Given the description of an element on the screen output the (x, y) to click on. 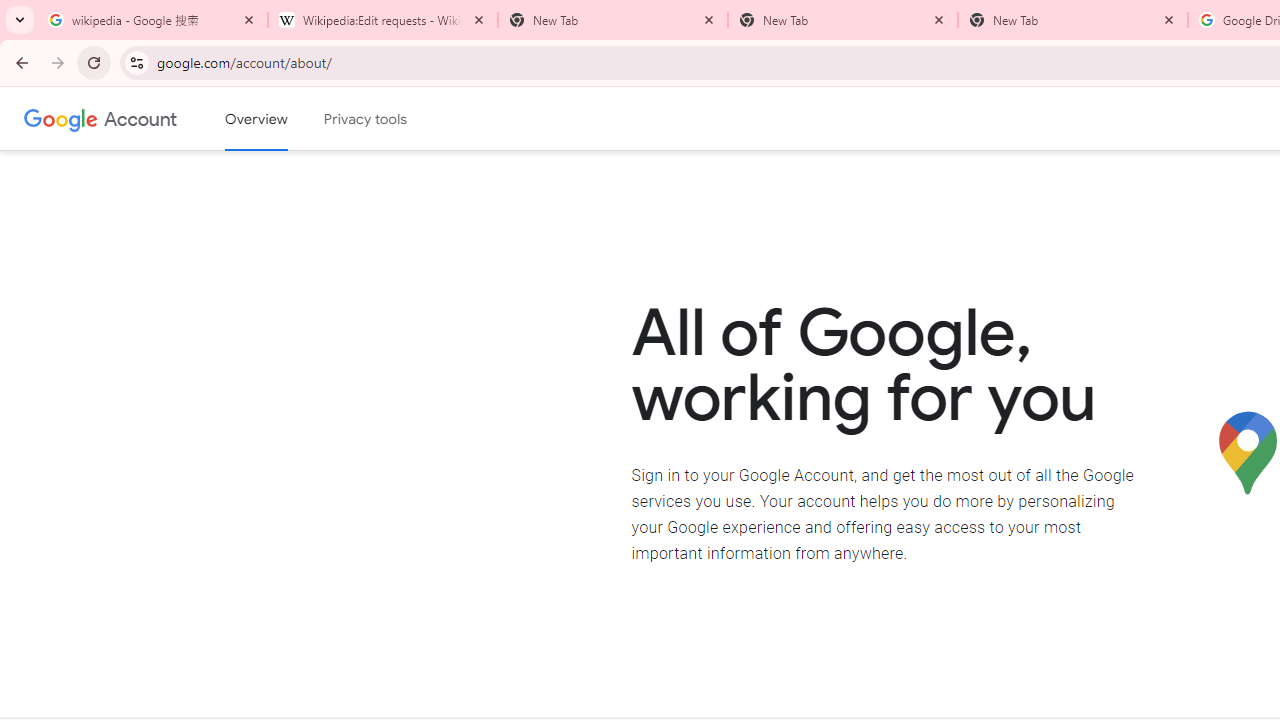
Privacy tools (365, 119)
New Tab (1072, 20)
